Given the description of an element on the screen output the (x, y) to click on. 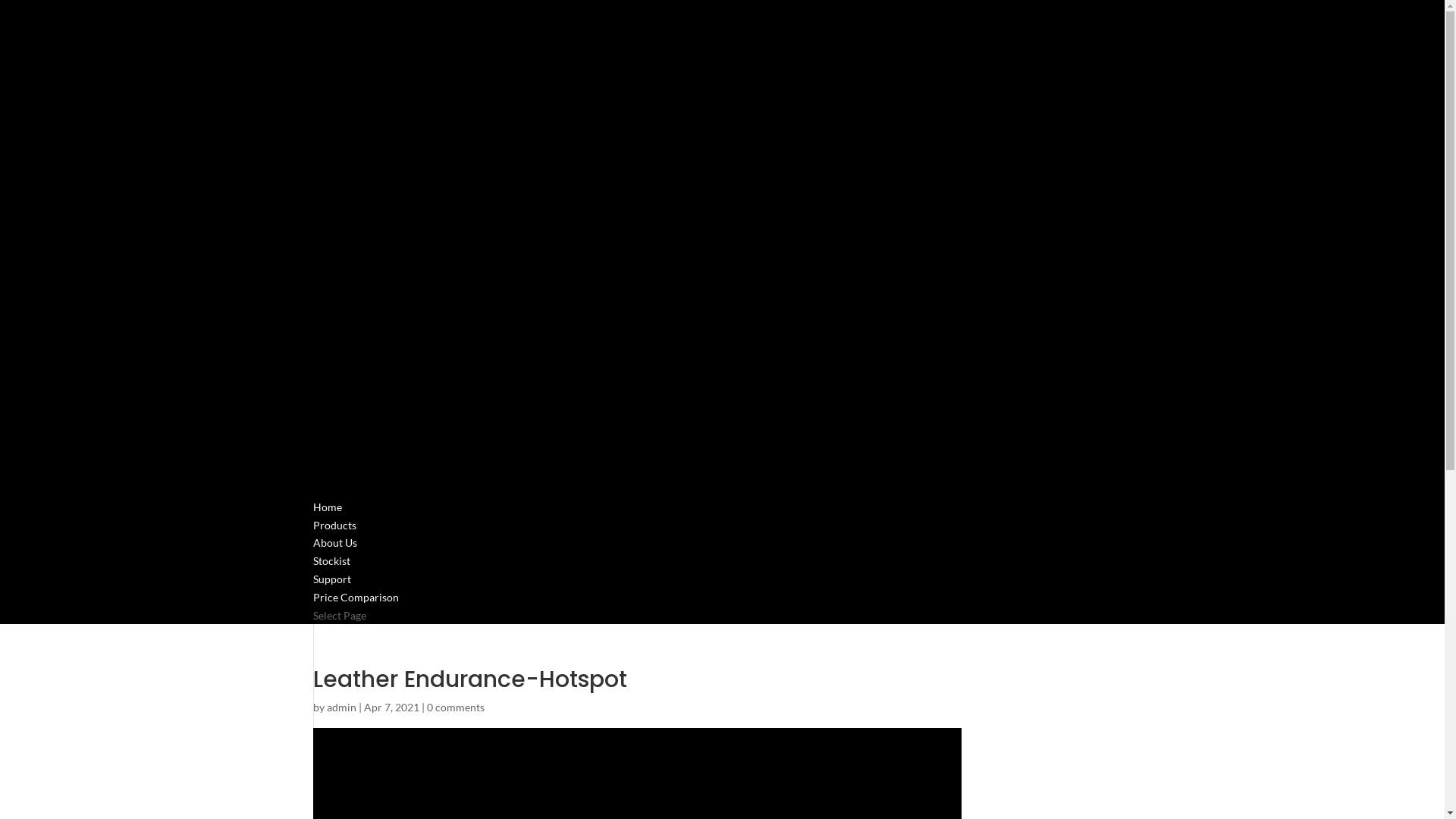
0 comments Element type: text (454, 706)
Support Element type: text (331, 597)
Stockist Element type: text (330, 579)
About Us Element type: text (334, 561)
admin Element type: text (340, 706)
Home Element type: text (326, 525)
Price Comparison Element type: text (355, 615)
Products Element type: text (333, 543)
